Given the description of an element on the screen output the (x, y) to click on. 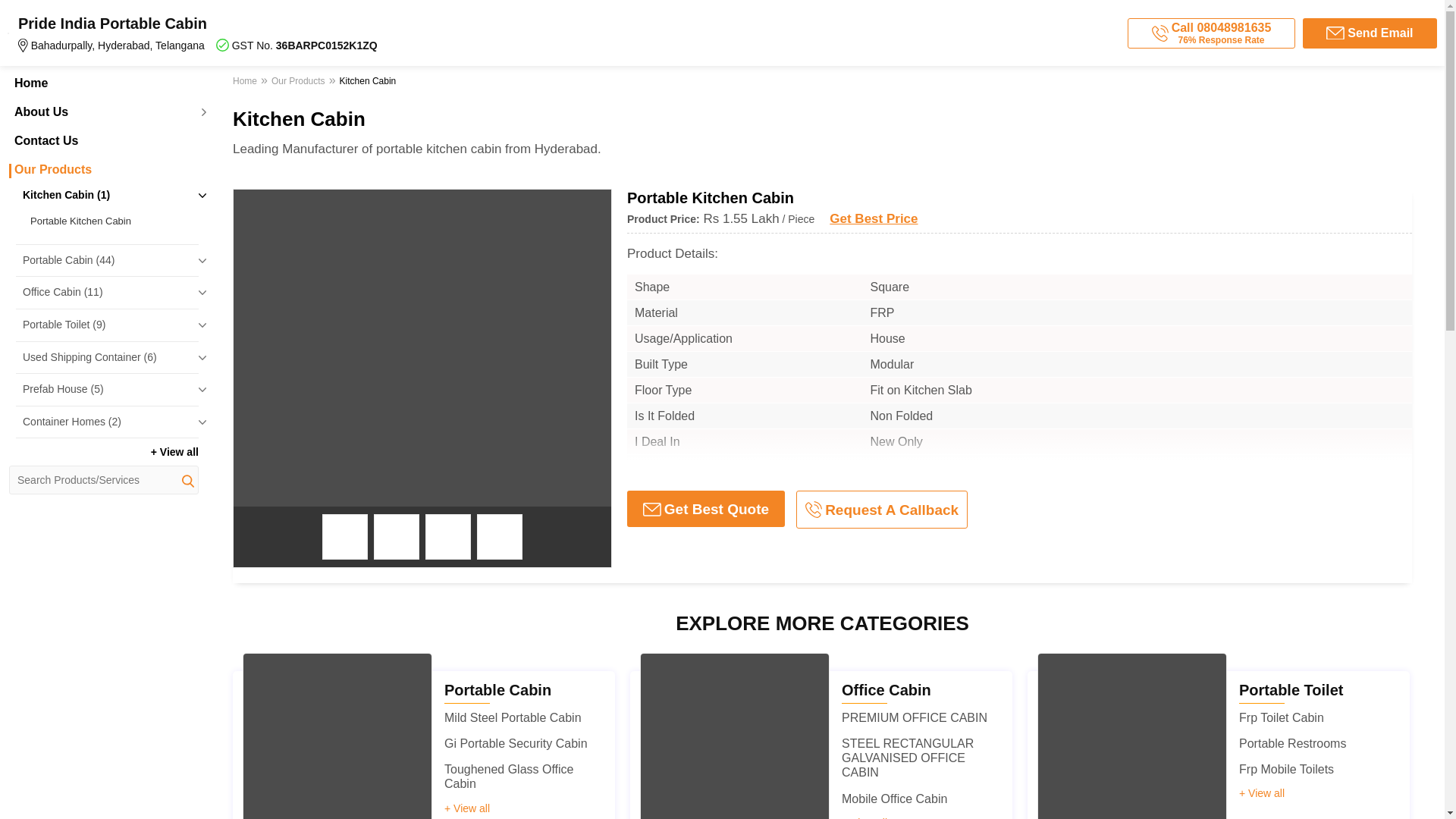
Portable Kitchen Cabin (110, 221)
About Us (103, 111)
Home (103, 82)
Contact Us (103, 141)
Our Products (103, 169)
